Given the description of an element on the screen output the (x, y) to click on. 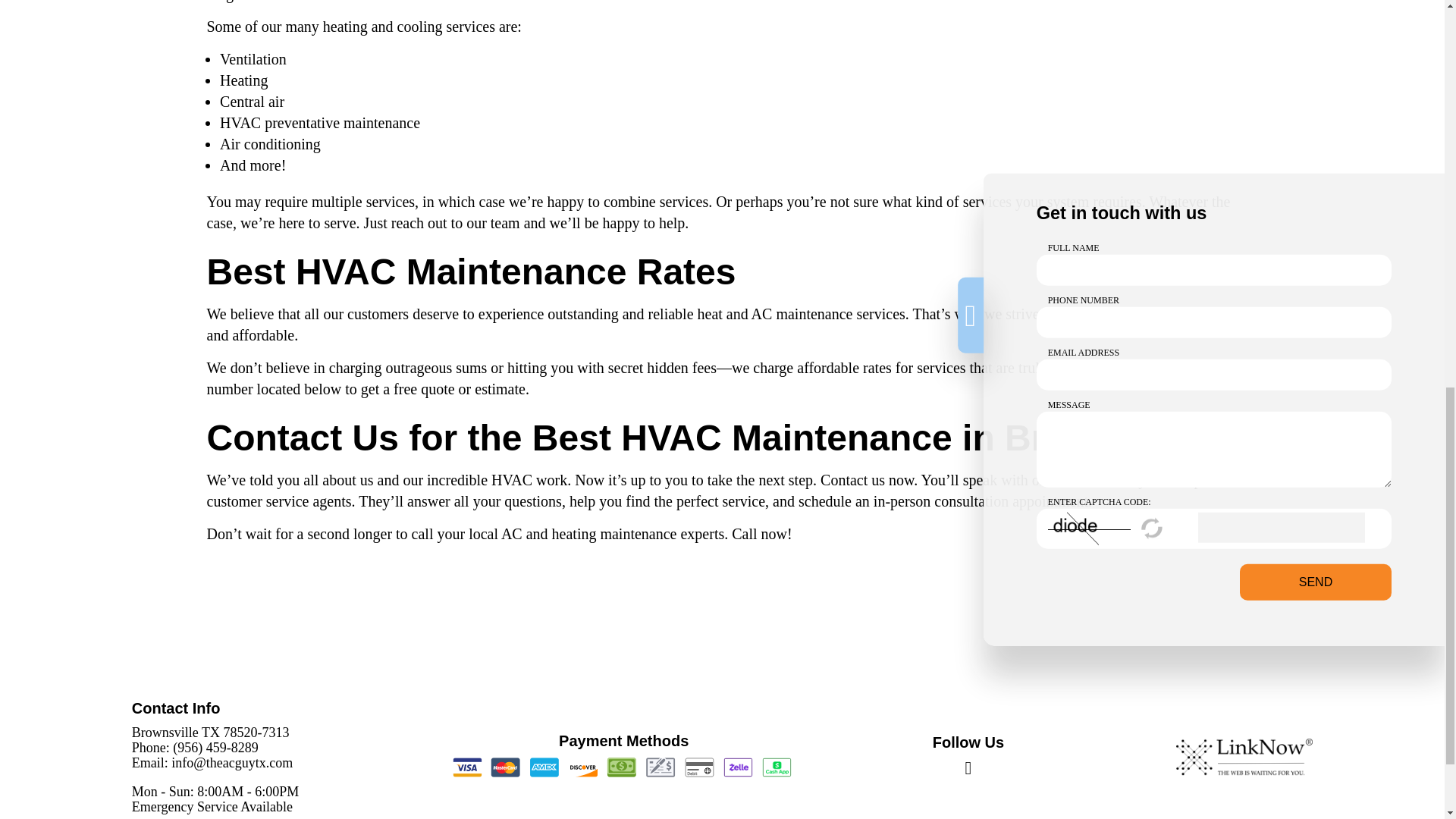
Check (661, 767)
Visa (467, 767)
Discover (582, 767)
Mastercard (505, 767)
American Express (544, 767)
Debit Card (698, 767)
Cash App (776, 767)
Zelle (738, 767)
Cash (621, 767)
